Given the description of an element on the screen output the (x, y) to click on. 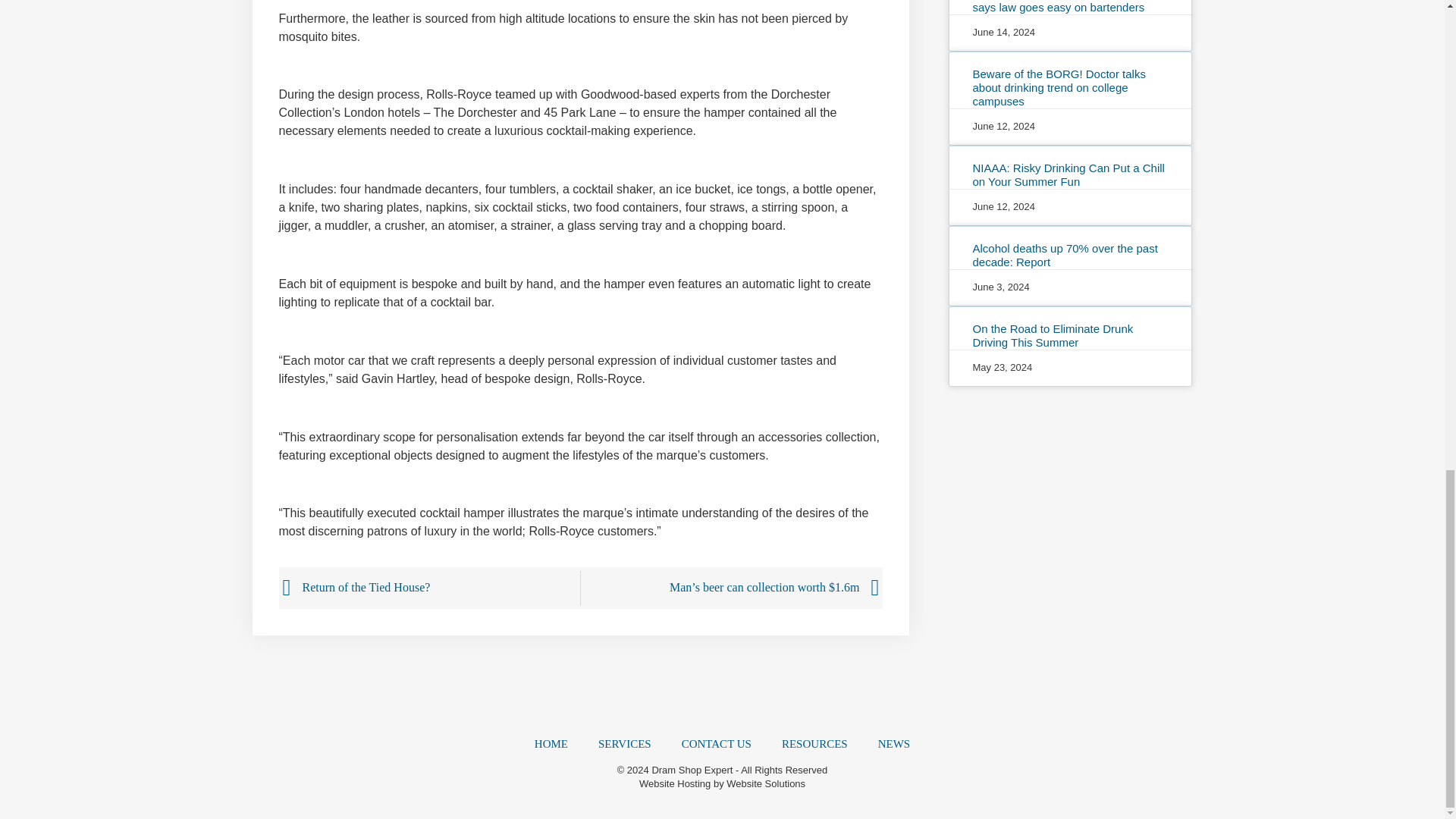
HOME (551, 743)
CONTACT US (716, 743)
RESOURCES (815, 743)
SERVICES (624, 743)
Return of the Tied House? (430, 587)
NIAAA: Risky Drinking Can Put a Chill on Your Summer Fun (1067, 174)
On the Road to Eliminate Drunk Driving This Summer (1052, 335)
NEWS (894, 743)
